Given the description of an element on the screen output the (x, y) to click on. 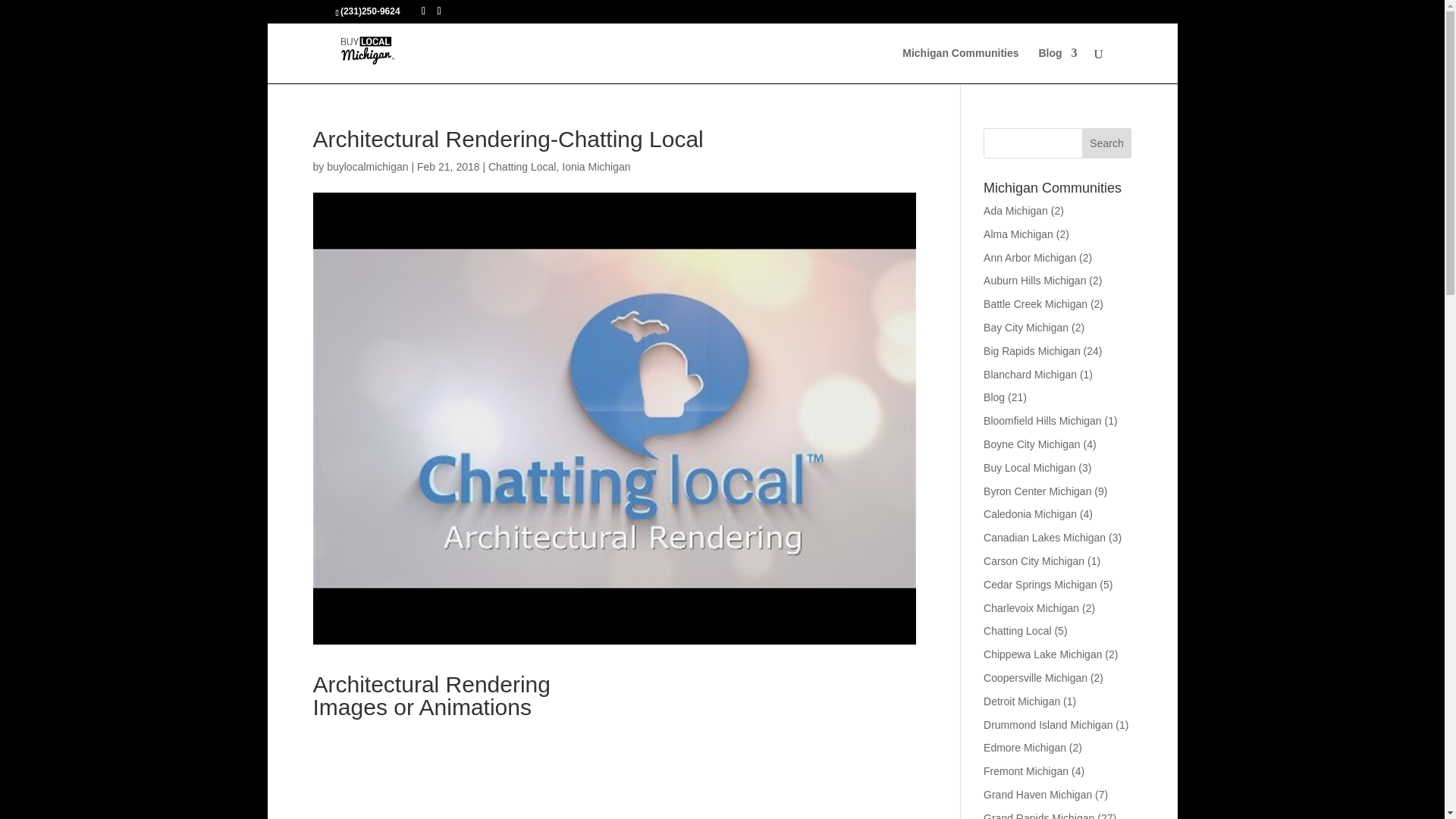
Big Rapids Michigan (1032, 350)
Battle Creek Michigan (1035, 304)
Search (1106, 142)
Blanchard Michigan (1030, 374)
Canadian Lakes Michigan (1044, 537)
Detroit Michigan (1021, 701)
Bloomfield Hills Michigan (1043, 420)
Chippewa Lake Michigan (1043, 654)
Michigan Communities (959, 65)
Coopersville Michigan (1035, 677)
